Given the description of an element on the screen output the (x, y) to click on. 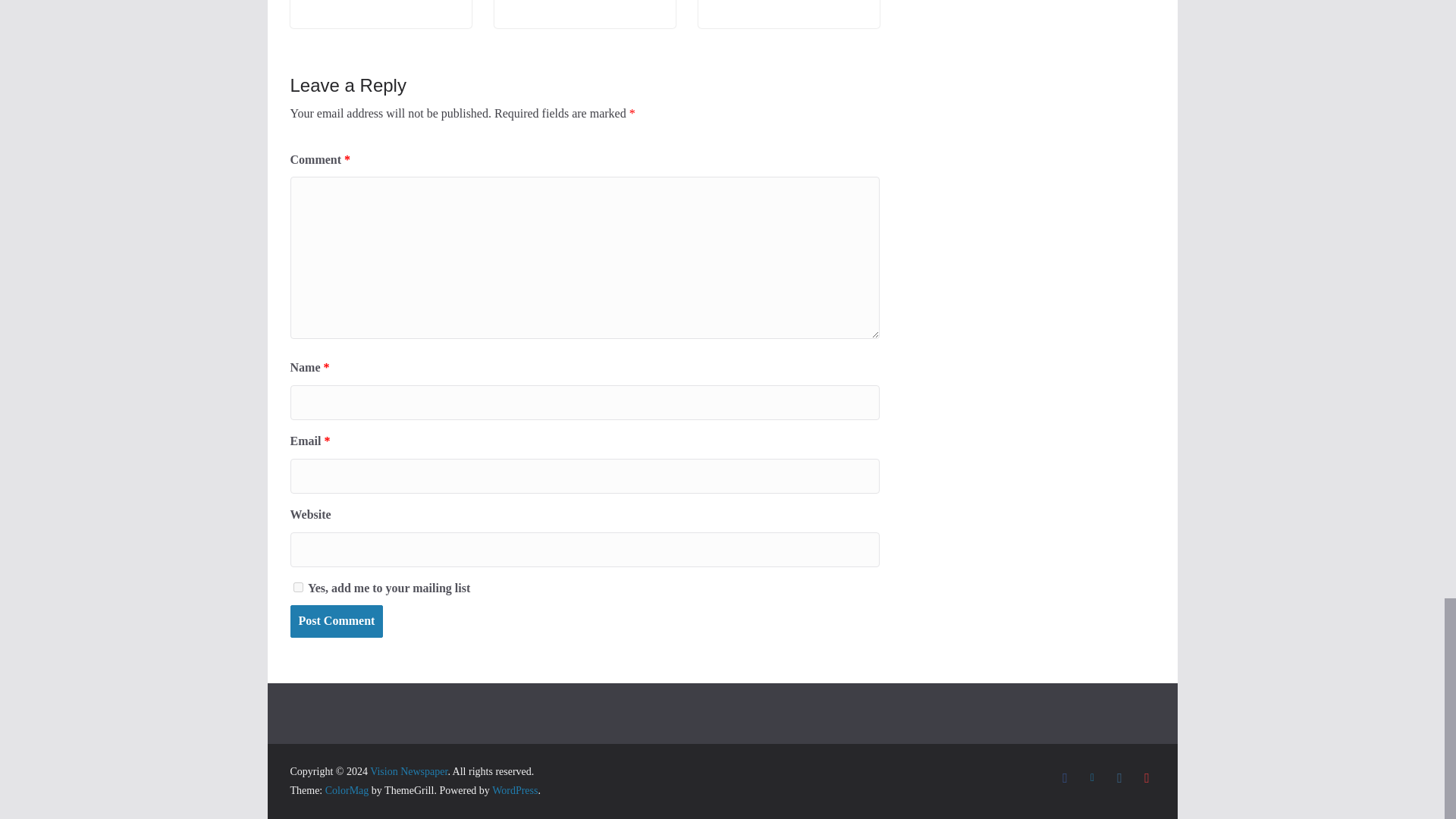
April 8, 2015 (334, 2)
Post Comment (335, 621)
5:51 pm (548, 2)
1 (297, 587)
February 15, 2015 (548, 2)
Post Comment (335, 621)
9:32 pm (334, 2)
